Given the description of an element on the screen output the (x, y) to click on. 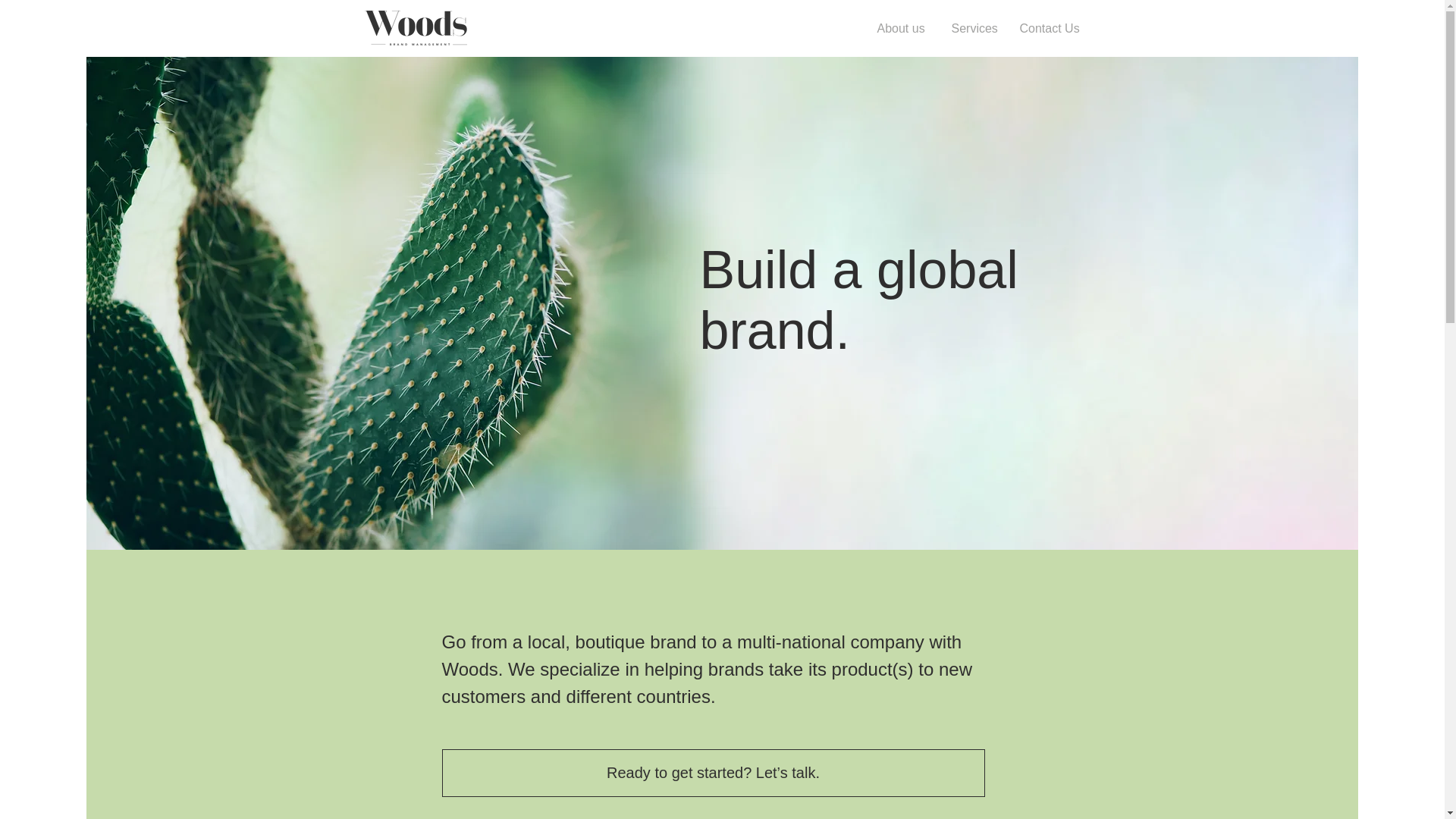
Contact Us (1051, 28)
About us (903, 28)
